Given the description of an element on the screen output the (x, y) to click on. 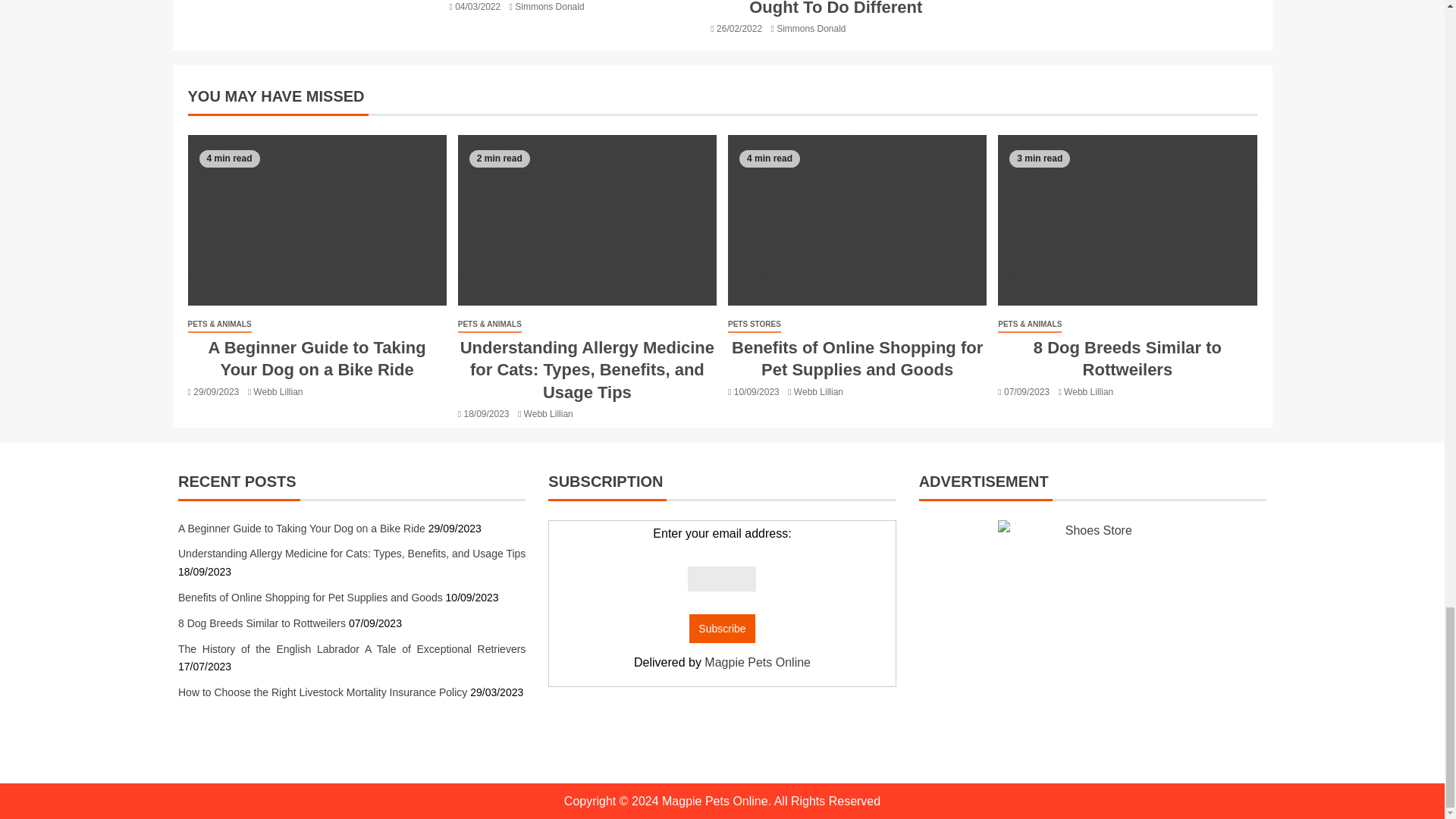
Subscribe (721, 628)
